Given the description of an element on the screen output the (x, y) to click on. 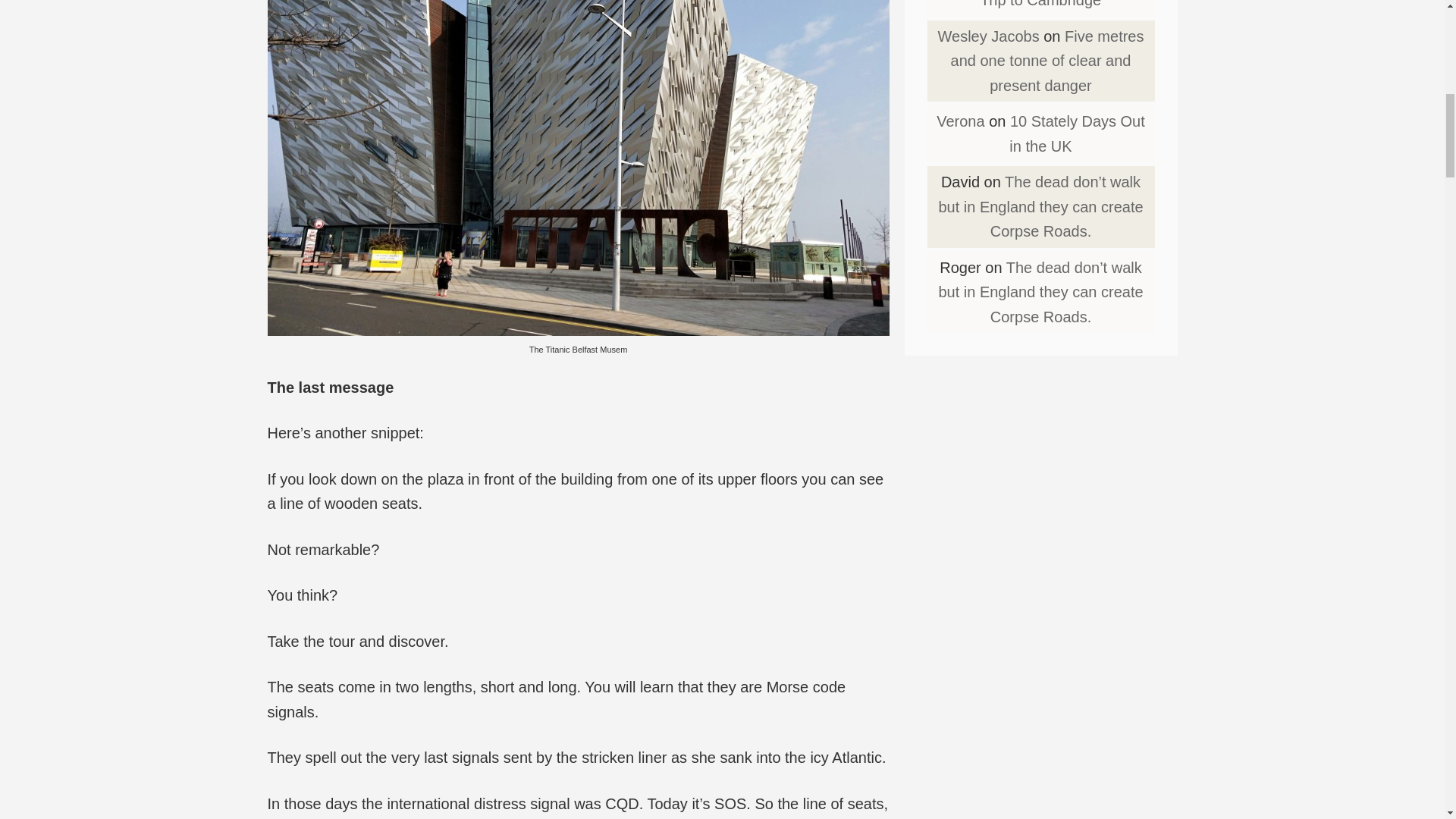
Wesley Jacobs (988, 36)
10 Stately Days Out in the UK (1076, 133)
Five metres and one tonne of clear and present danger (1047, 60)
Verona (960, 121)
A Great British Road Trip to Cambridge (1062, 4)
